Given the description of an element on the screen output the (x, y) to click on. 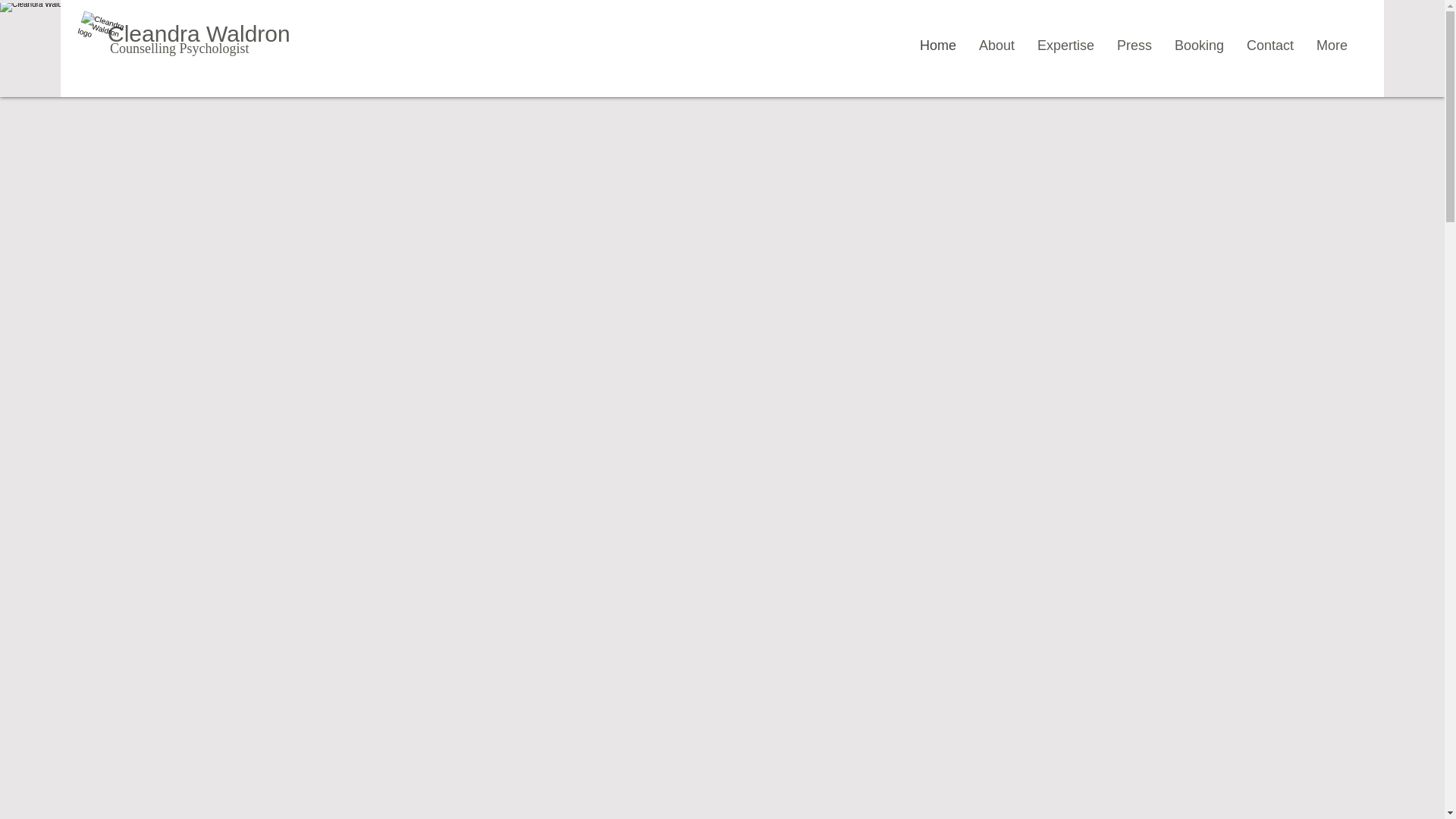
About (997, 45)
Cleandra  (156, 33)
Booking (1198, 45)
Waldron (247, 33)
Press (1134, 45)
Counselling Psychologist (179, 48)
Expertise (1065, 45)
Contact (1269, 45)
Home (938, 45)
